Given the description of an element on the screen output the (x, y) to click on. 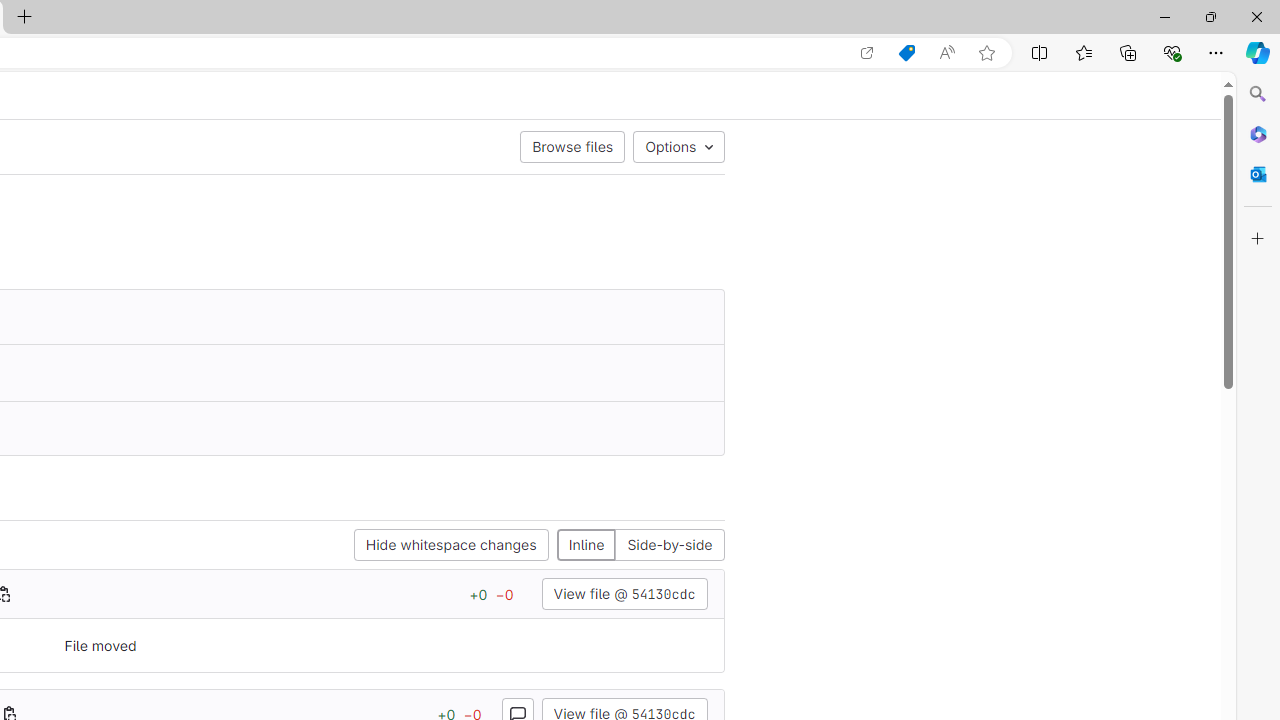
View file @ 54130cdc (624, 594)
Hide whitespace changes (451, 545)
Browse files (572, 146)
Open in app (867, 53)
Side-by-side (669, 545)
